Given the description of an element on the screen output the (x, y) to click on. 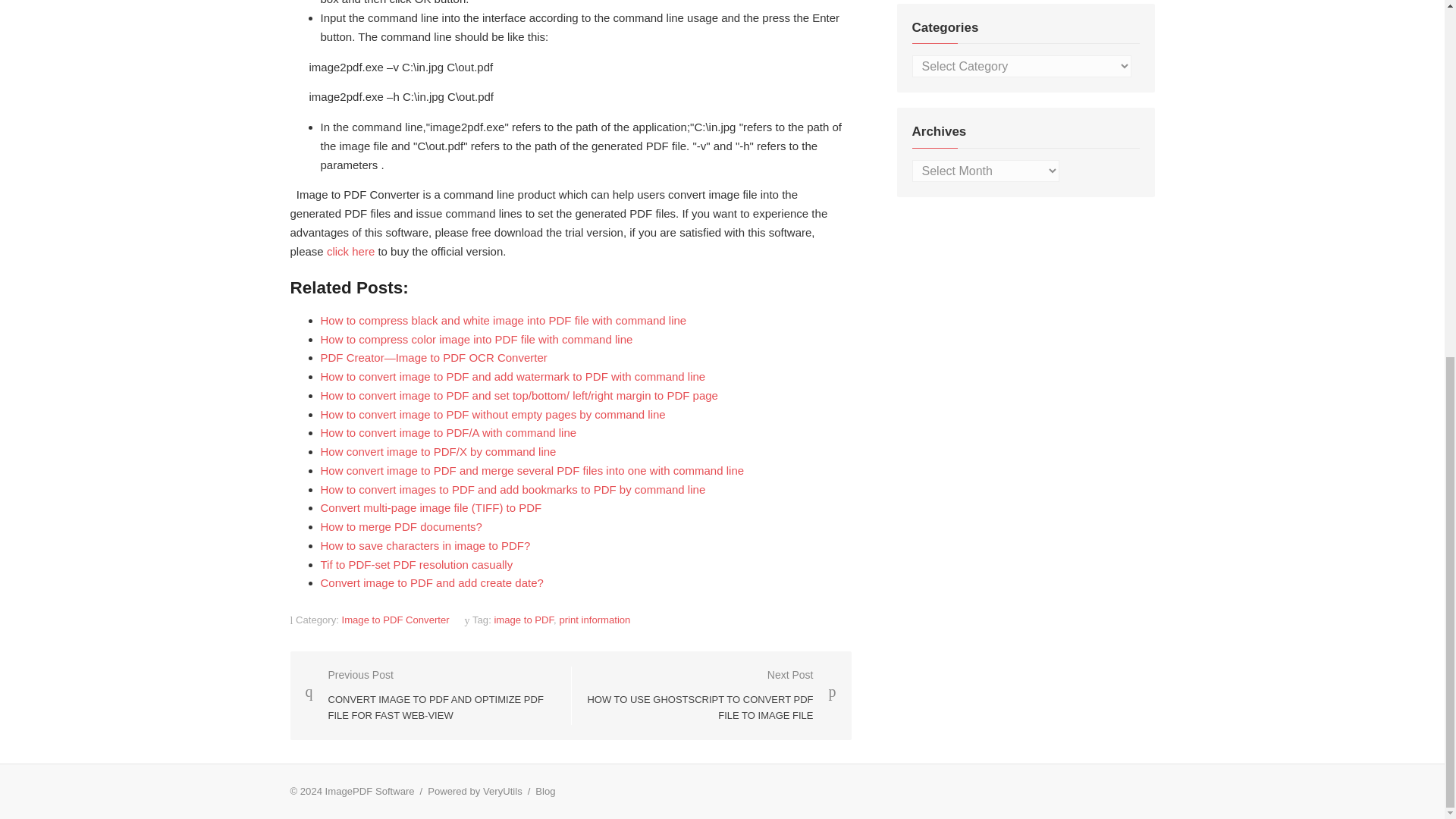
Convert image to PDF and add create date? (431, 582)
print information (594, 619)
How to compress color image into PDF file with command line (475, 338)
image to PDF (523, 619)
How to save characters in image to PDF? (424, 545)
How to compress color image into PDF file with command line (475, 338)
Tif to PDF-set PDF resolution casually (416, 563)
